Given the description of an element on the screen output the (x, y) to click on. 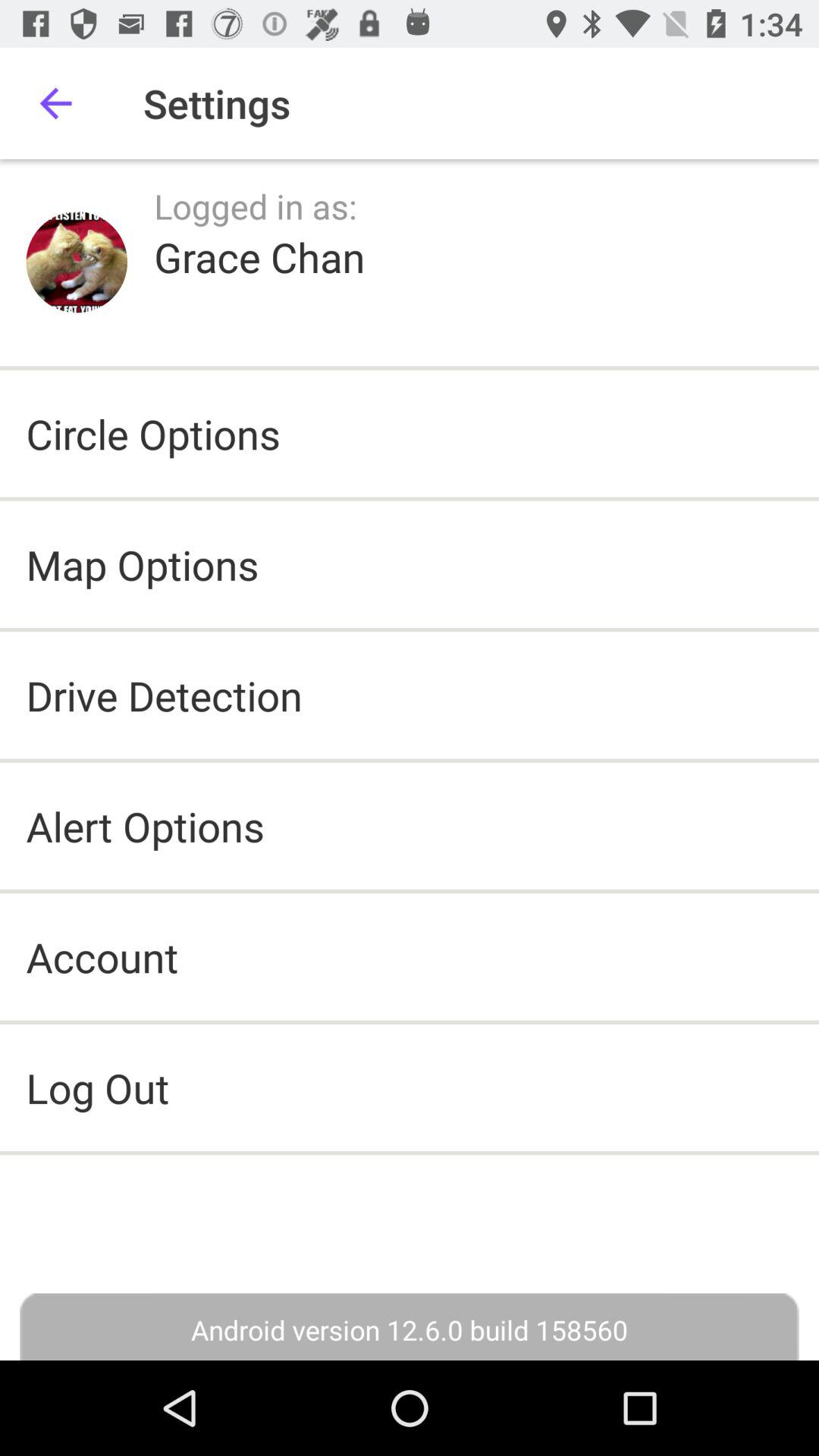
launch icon above the circle options icon (259, 256)
